Given the description of an element on the screen output the (x, y) to click on. 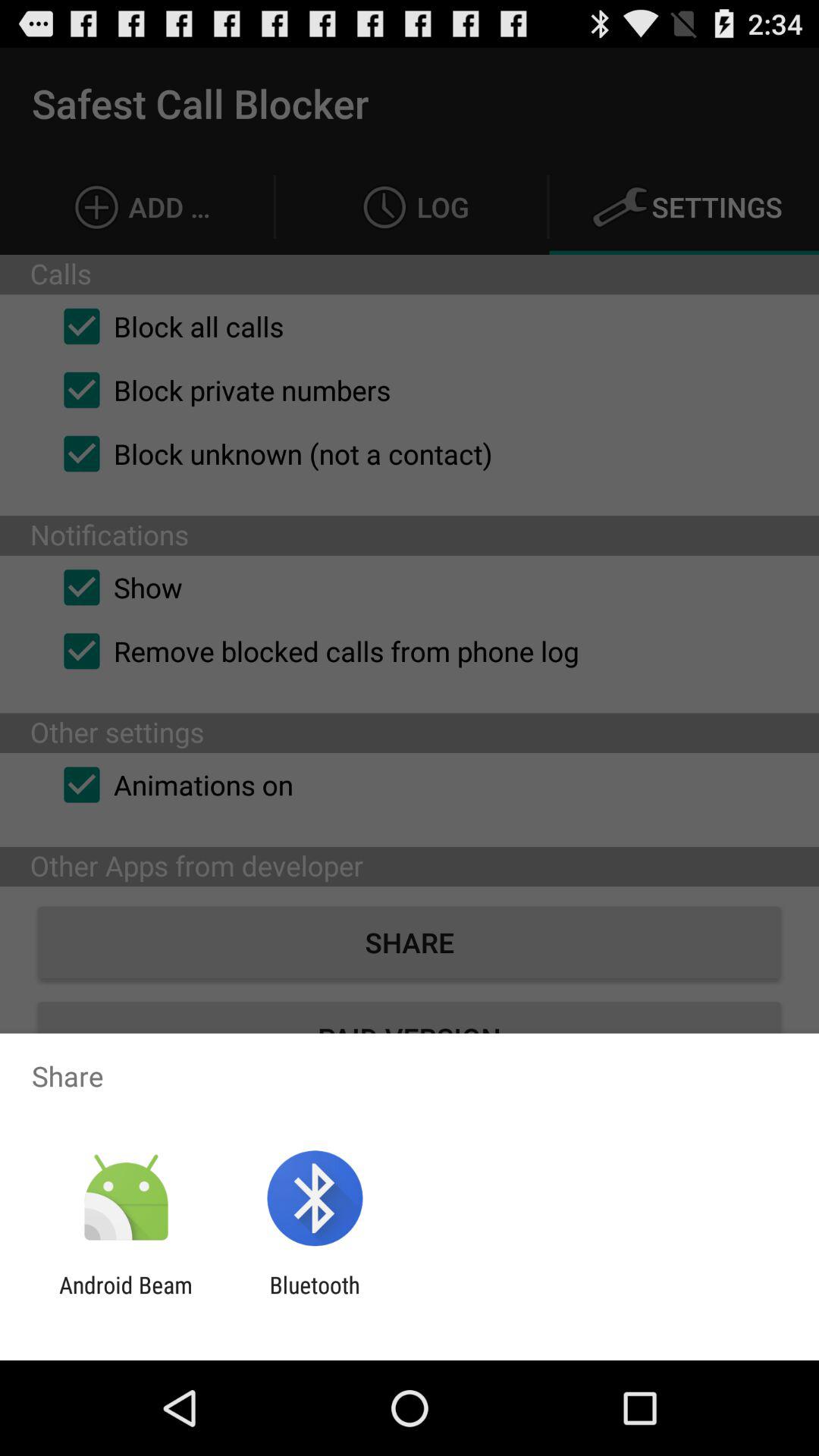
turn on the icon next to the android beam item (314, 1298)
